Given the description of an element on the screen output the (x, y) to click on. 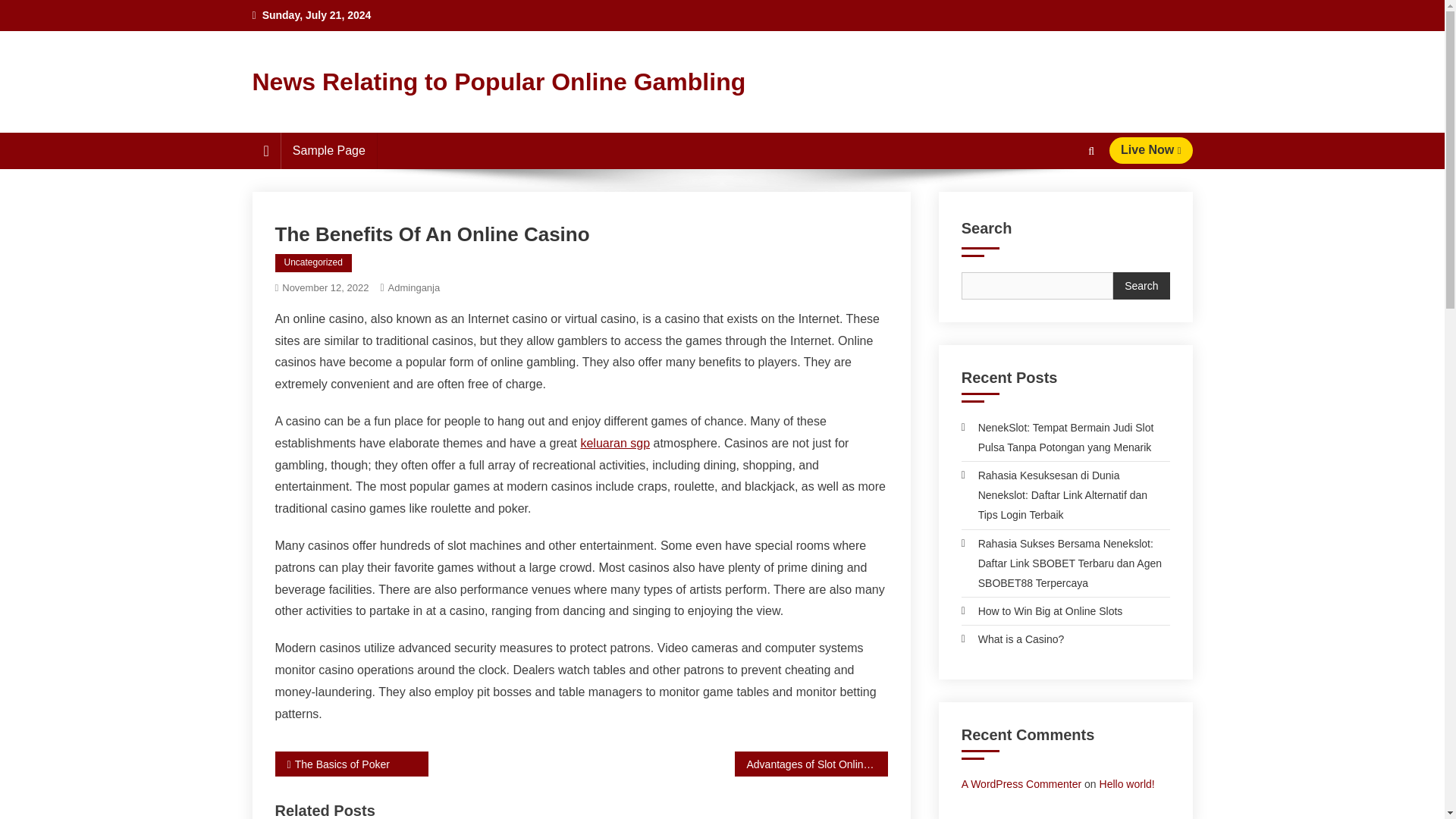
Search (1141, 285)
Advantages of Slot Online (809, 763)
November 12, 2022 (325, 287)
A WordPress Commenter (1020, 784)
Sample Page (329, 150)
Search (1062, 206)
News Relating to Popular Online Gambling (498, 81)
How to Win Big at Online Slots (1041, 610)
The Basics of Poker (351, 763)
keluaran sgp (614, 442)
Live Now (1150, 150)
Uncategorized (312, 262)
Adminganja (414, 287)
